Given the description of an element on the screen output the (x, y) to click on. 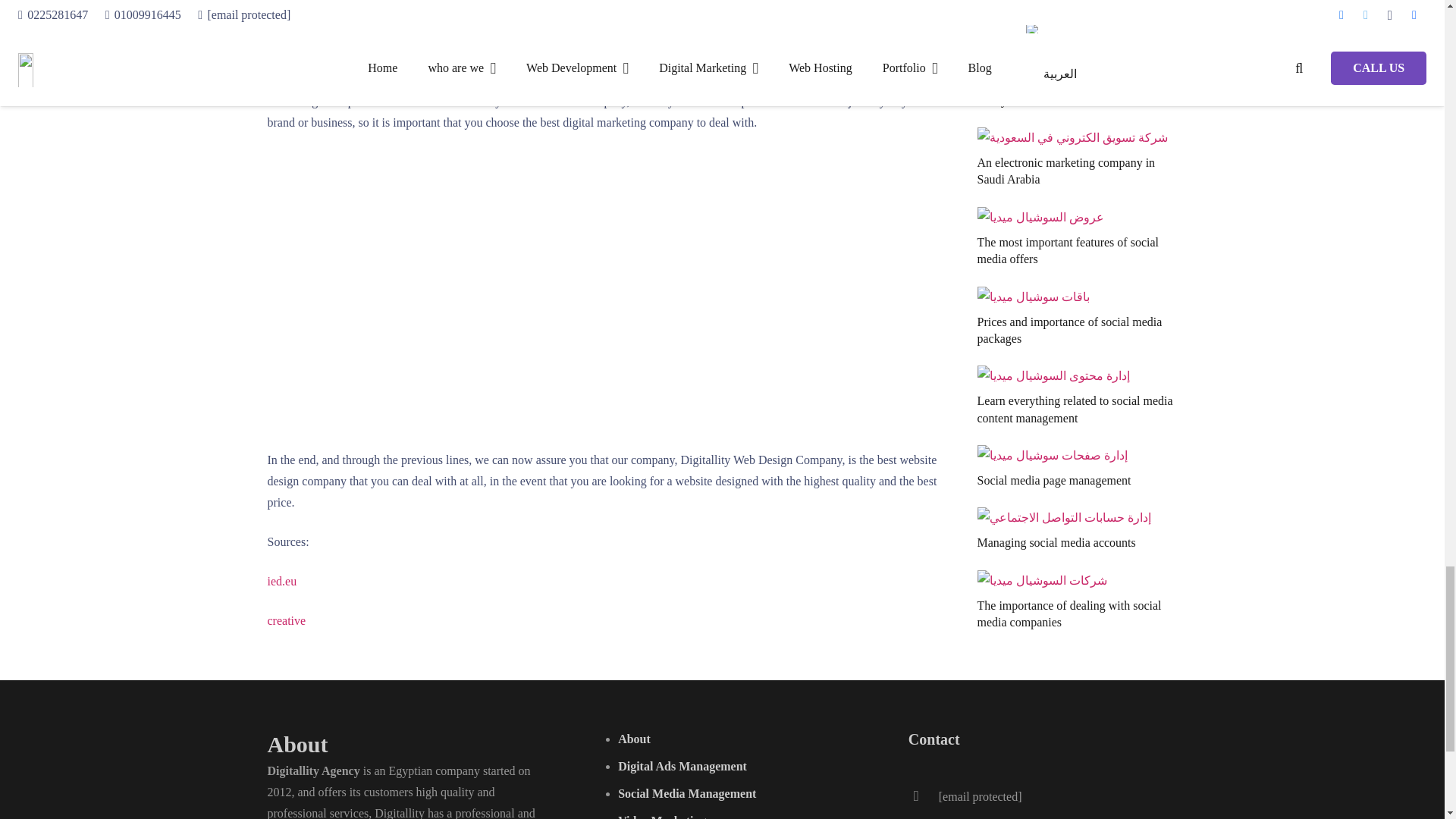
ied.eu (281, 581)
creative (285, 620)
How to create a professional website from scratch in minutes (509, 288)
